Given the description of an element on the screen output the (x, y) to click on. 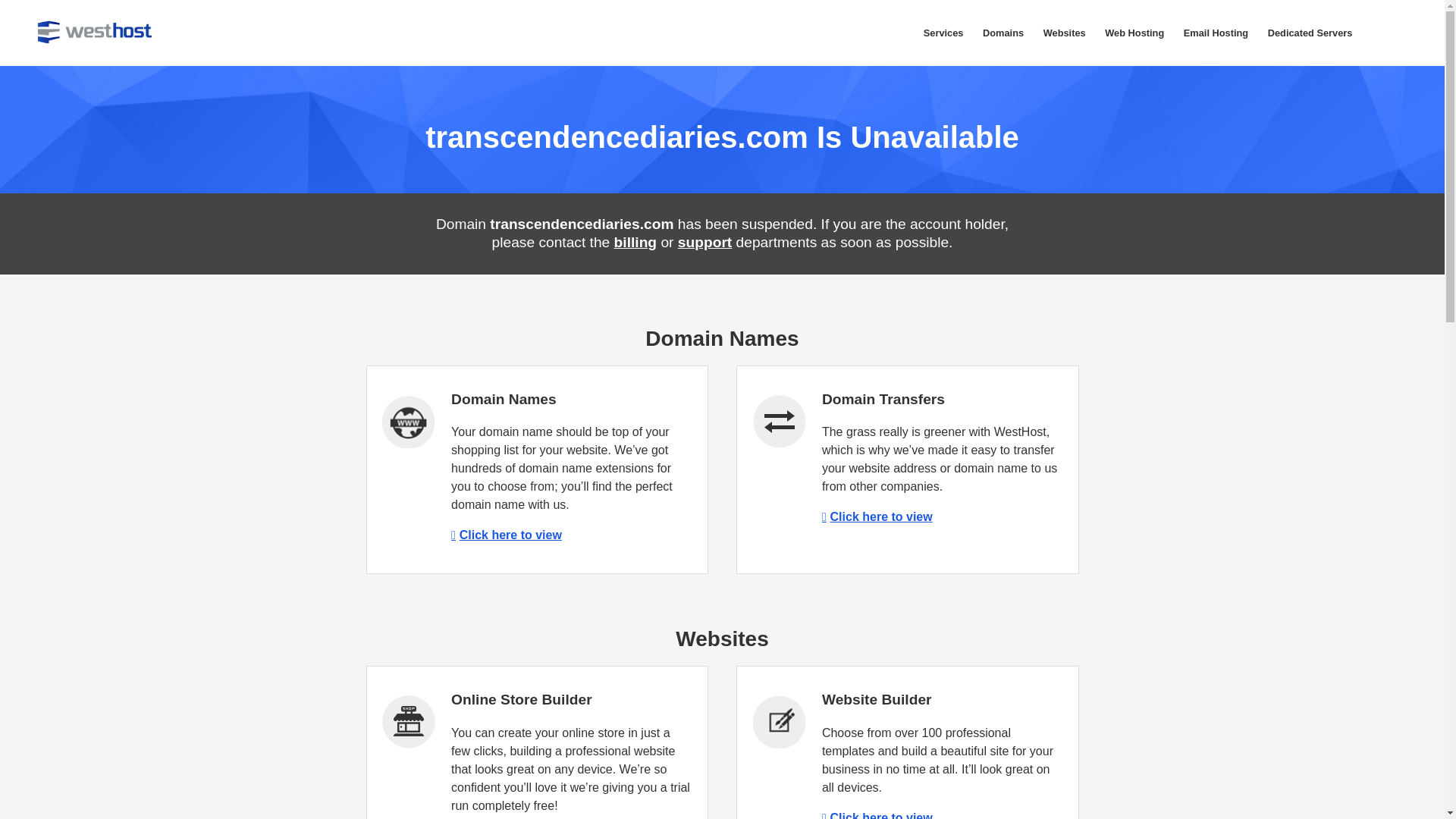
Domains (1002, 32)
Email Hosting (1215, 32)
billing (636, 242)
Click here to view (506, 534)
support (705, 242)
Services (943, 32)
Dedicated Servers (1309, 32)
Click here to view (877, 815)
Websites (1064, 32)
Web Hosting (1133, 32)
